Given the description of an element on the screen output the (x, y) to click on. 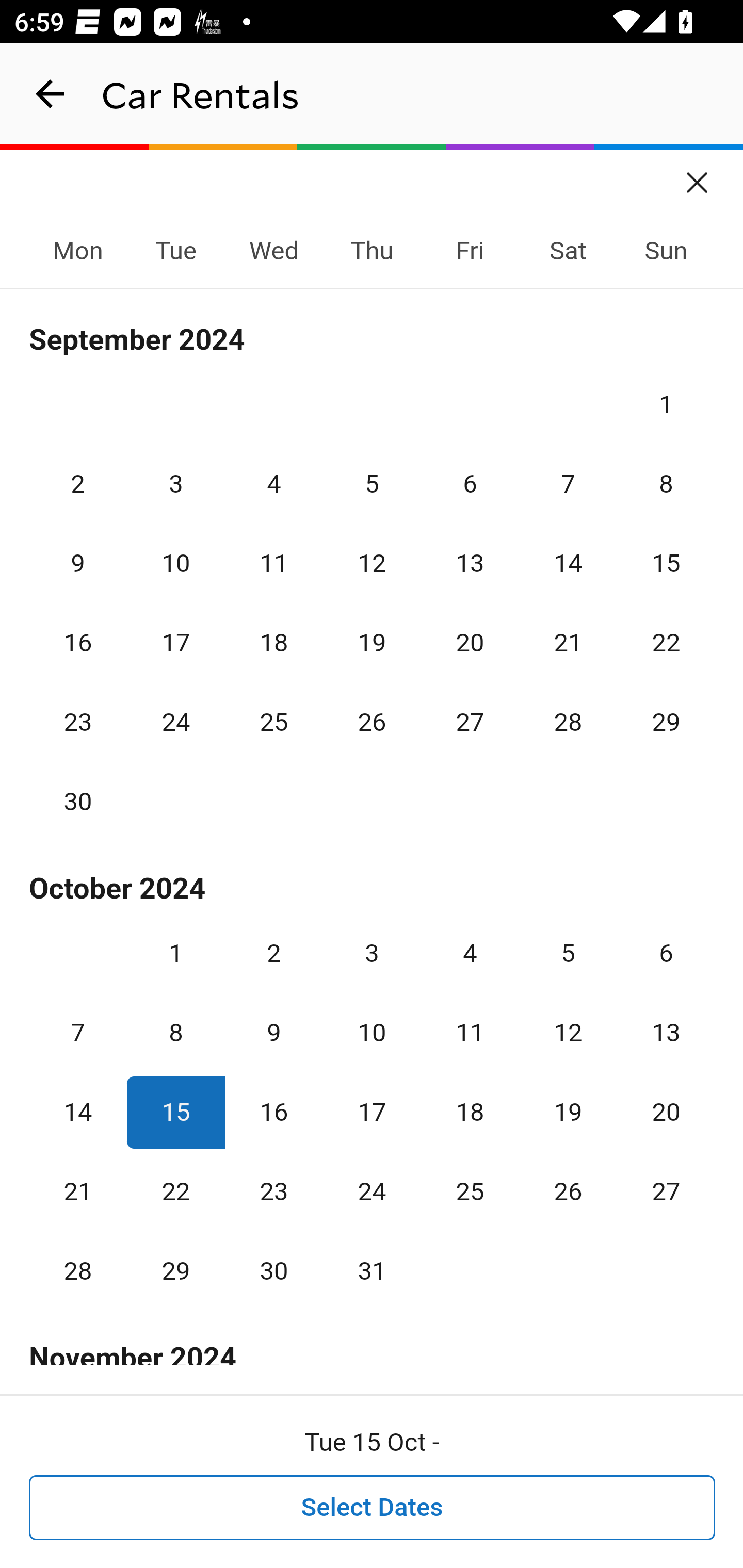
navigation_button (50, 93)
Close (697, 176)
1 September 2024 (665, 404)
2 September 2024 (77, 484)
3 September 2024 (175, 484)
4 September 2024 (273, 484)
5 September 2024 (371, 484)
6 September 2024 (470, 484)
7 September 2024 (567, 484)
8 September 2024 (665, 484)
9 September 2024 (77, 563)
10 September 2024 (175, 563)
11 September 2024 (273, 563)
12 September 2024 (371, 563)
13 September 2024 (470, 563)
14 September 2024 (567, 563)
15 September 2024 (665, 563)
16 September 2024 (77, 642)
17 September 2024 (175, 642)
18 September 2024 (273, 642)
19 September 2024 (371, 642)
20 September 2024 (470, 642)
21 September 2024 (567, 642)
22 September 2024 (665, 642)
23 September 2024 (77, 722)
24 September 2024 (175, 722)
25 September 2024 (273, 722)
26 September 2024 (371, 722)
27 September 2024 (470, 722)
28 September 2024 (567, 722)
29 September 2024 (665, 722)
30 September 2024 (77, 801)
1 October 2024 (175, 952)
2 October 2024 (273, 952)
3 October 2024 (371, 952)
4 October 2024 (470, 952)
5 October 2024 (567, 952)
6 October 2024 (665, 952)
7 October 2024 (77, 1032)
8 October 2024 (175, 1032)
9 October 2024 (273, 1032)
10 October 2024 (371, 1032)
11 October 2024 (470, 1032)
12 October 2024 (567, 1032)
13 October 2024 (665, 1032)
14 October 2024 (77, 1112)
15 October 2024 (175, 1112)
16 October 2024 (273, 1112)
17 October 2024 (371, 1112)
18 October 2024 (470, 1112)
